Given the description of an element on the screen output the (x, y) to click on. 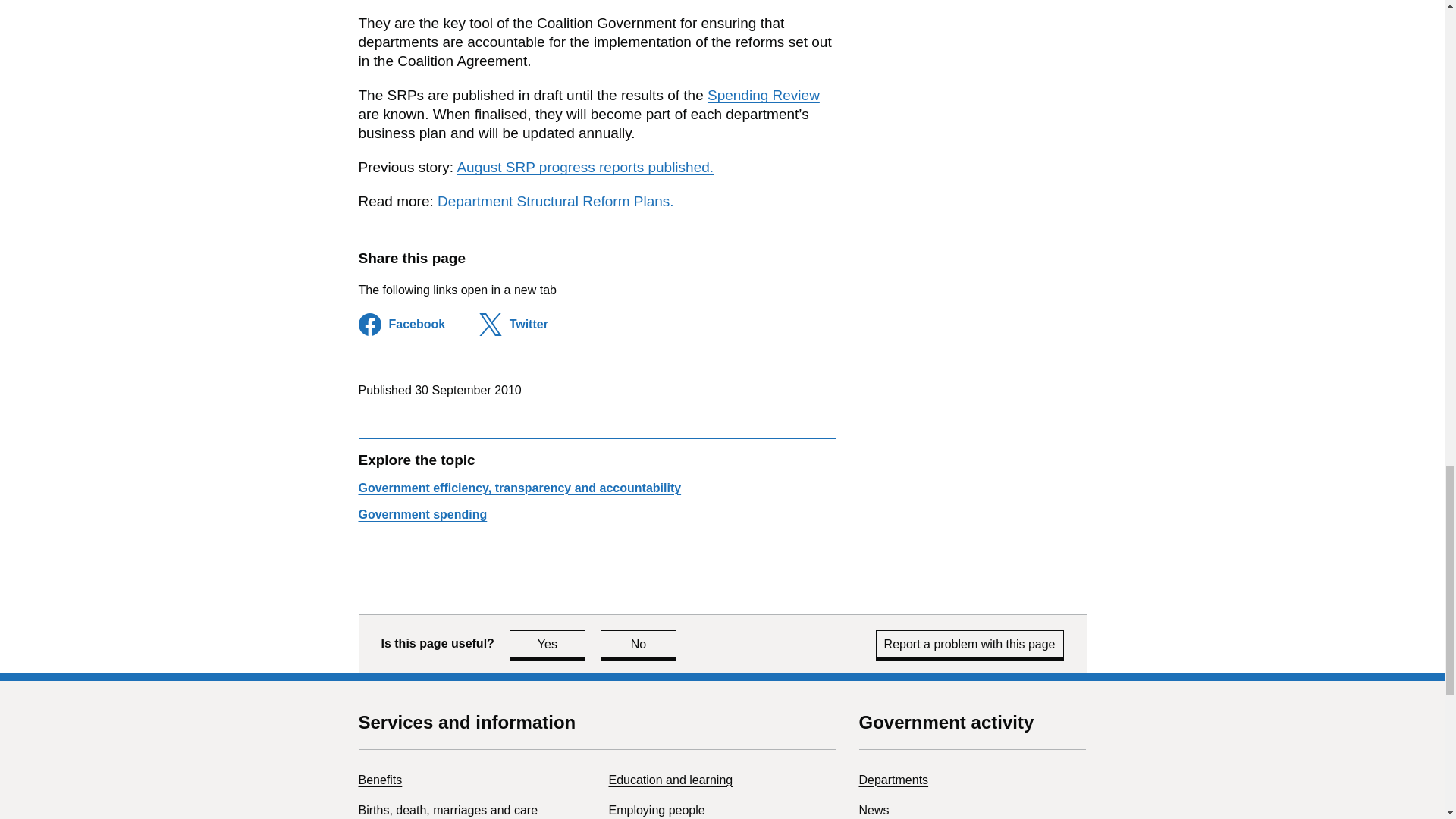
Births, death, marriages and care (447, 809)
August SRP progress reports published. (585, 166)
Benefits (379, 779)
Spending Review (638, 643)
Report a problem with this page (763, 94)
Department Structural Reform Plans. (970, 643)
Government spending (556, 201)
Government efficiency, transparency and accountability (422, 513)
